Given the description of an element on the screen output the (x, y) to click on. 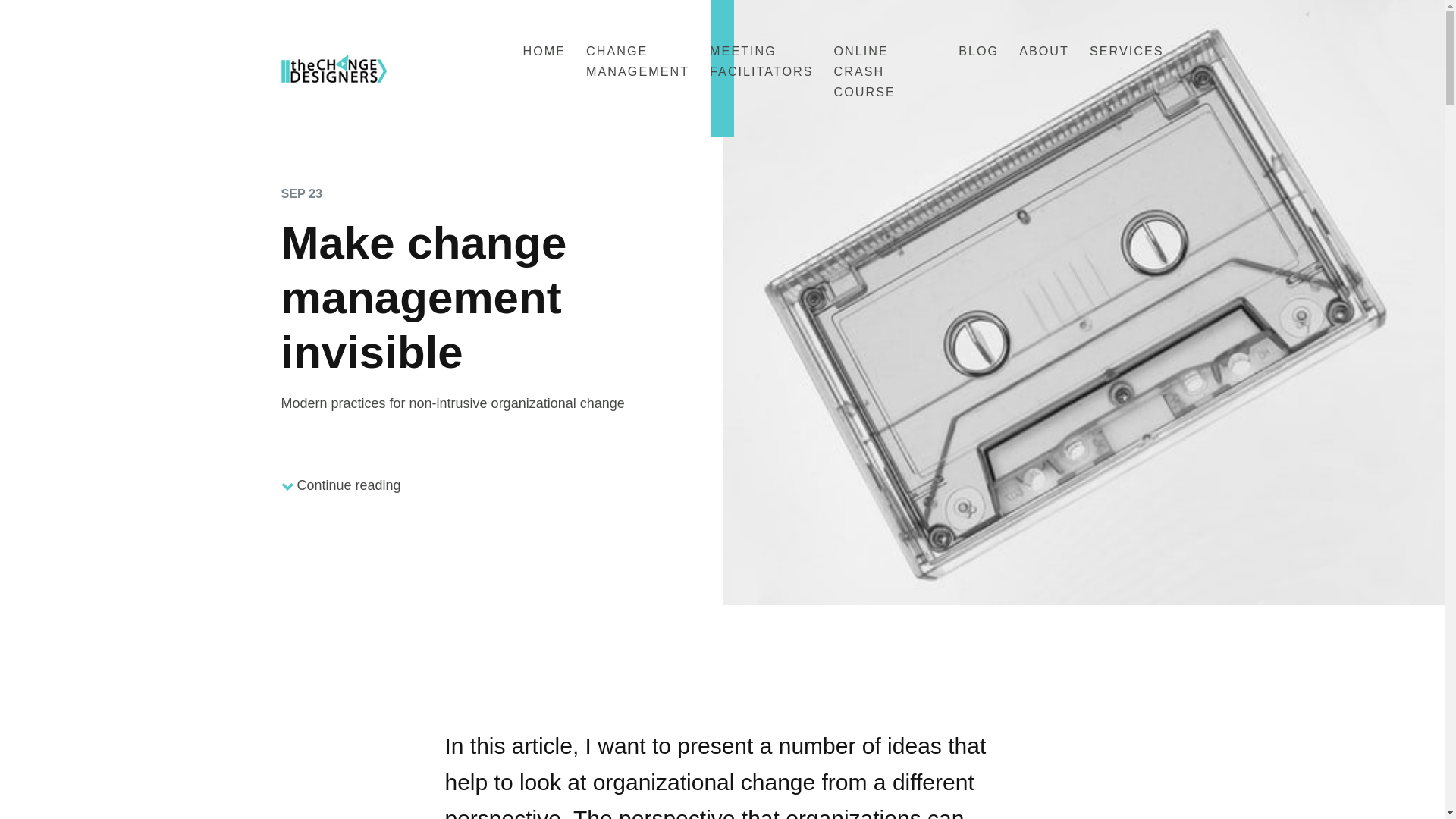
CHANGE MANAGEMENT (637, 60)
ONLINE CRASH COURSE (864, 71)
MEETING FACILITATORS (761, 60)
ABOUT (1043, 50)
Continue reading (340, 485)
BLOG (978, 50)
SERVICES (1126, 50)
HOME (544, 50)
